Given the description of an element on the screen output the (x, y) to click on. 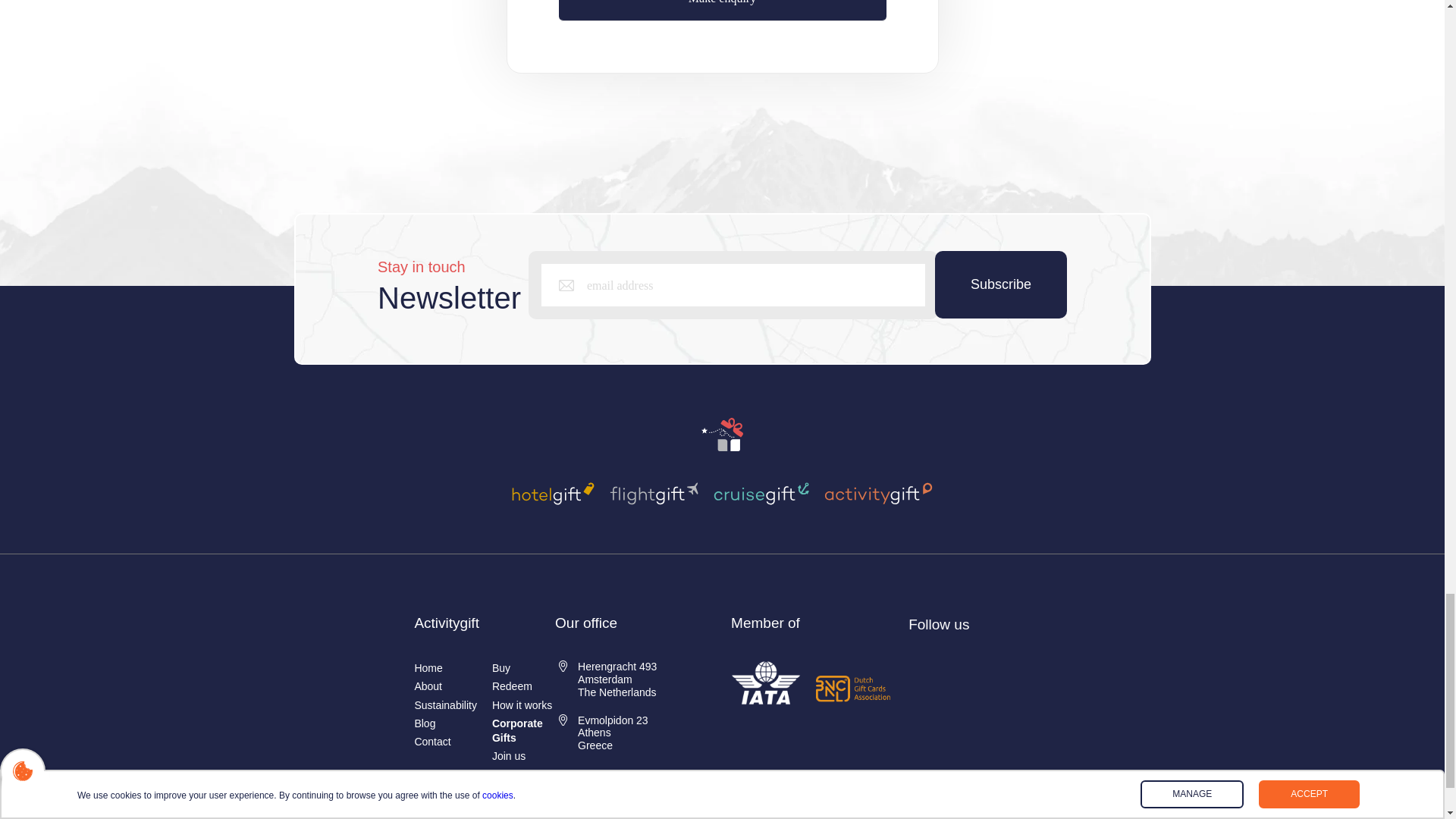
Subscribe (1000, 284)
Make enquiry (721, 10)
Subscribe (1000, 284)
Make enquiry (721, 10)
